Given the description of an element on the screen output the (x, y) to click on. 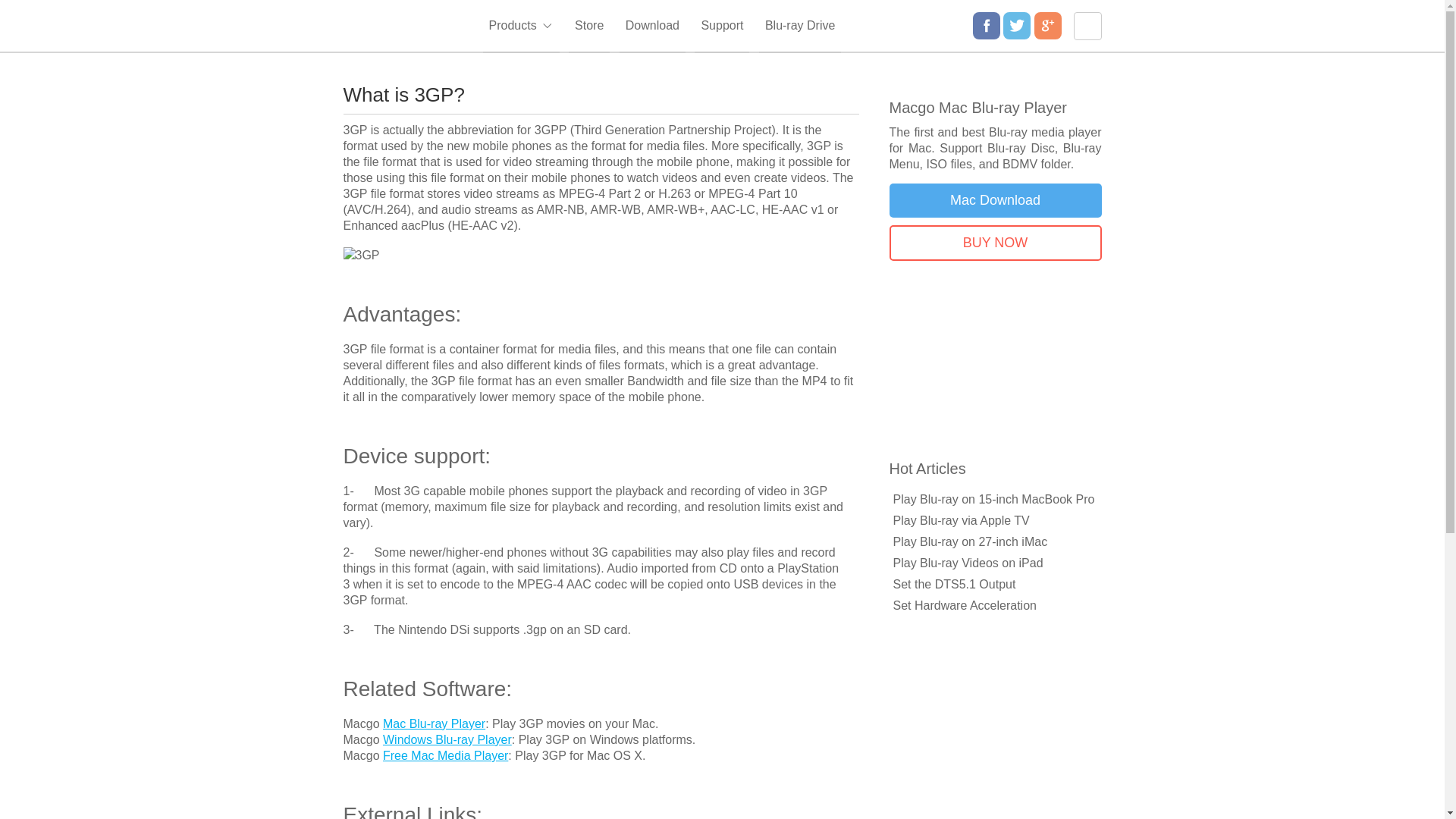
Play Blu-ray on 15-inch MacBook Pro (993, 499)
Purchase Now (994, 243)
Blu-ray Drive (799, 26)
Mac Download (994, 200)
Play Blu-ray Videos on iPad (968, 562)
Set Hardware Acceleration (964, 604)
Support (721, 26)
Download (652, 26)
Mac Blu-ray Player (433, 723)
Free Download (994, 200)
